Given the description of an element on the screen output the (x, y) to click on. 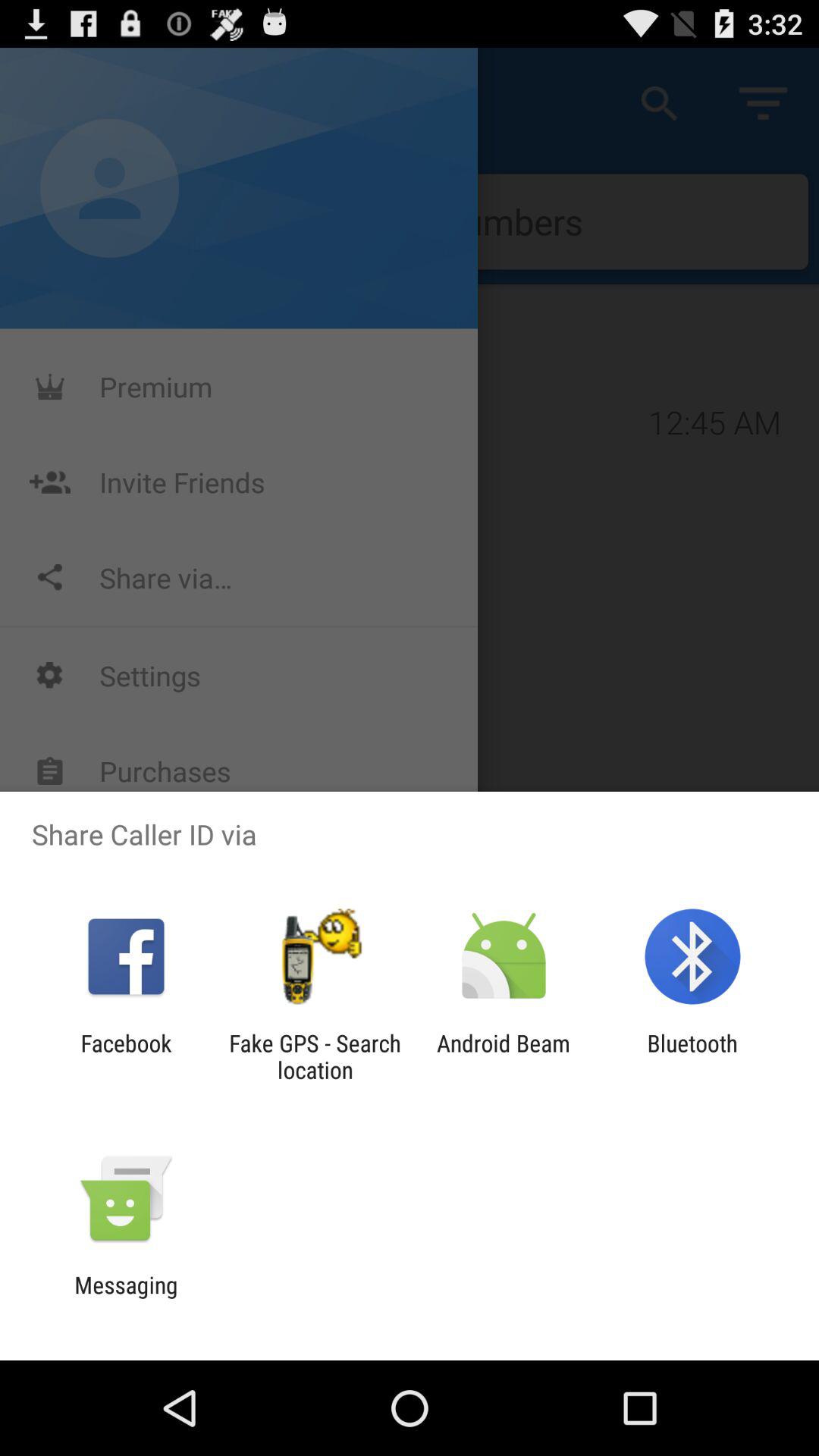
flip until the bluetooth icon (692, 1056)
